Given the description of an element on the screen output the (x, y) to click on. 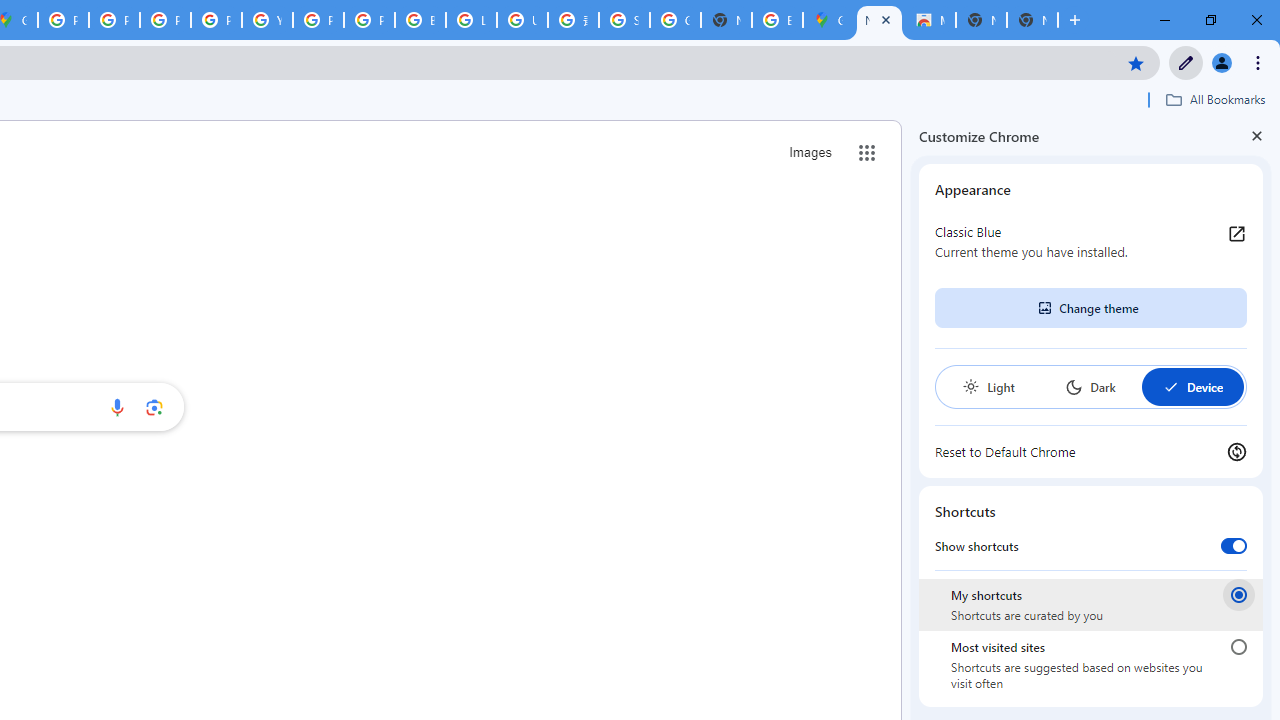
Dark (1090, 386)
Browse Chrome as a guest - Computer - Google Chrome Help (420, 20)
New Tab (878, 20)
Reset to Default Chrome (1091, 452)
Search by voice (116, 407)
Show shortcuts (1233, 545)
Classic Blue Current theme you have installed. (1091, 241)
Policy Accountability and Transparency - Transparency Center (63, 20)
